Given the description of an element on the screen output the (x, y) to click on. 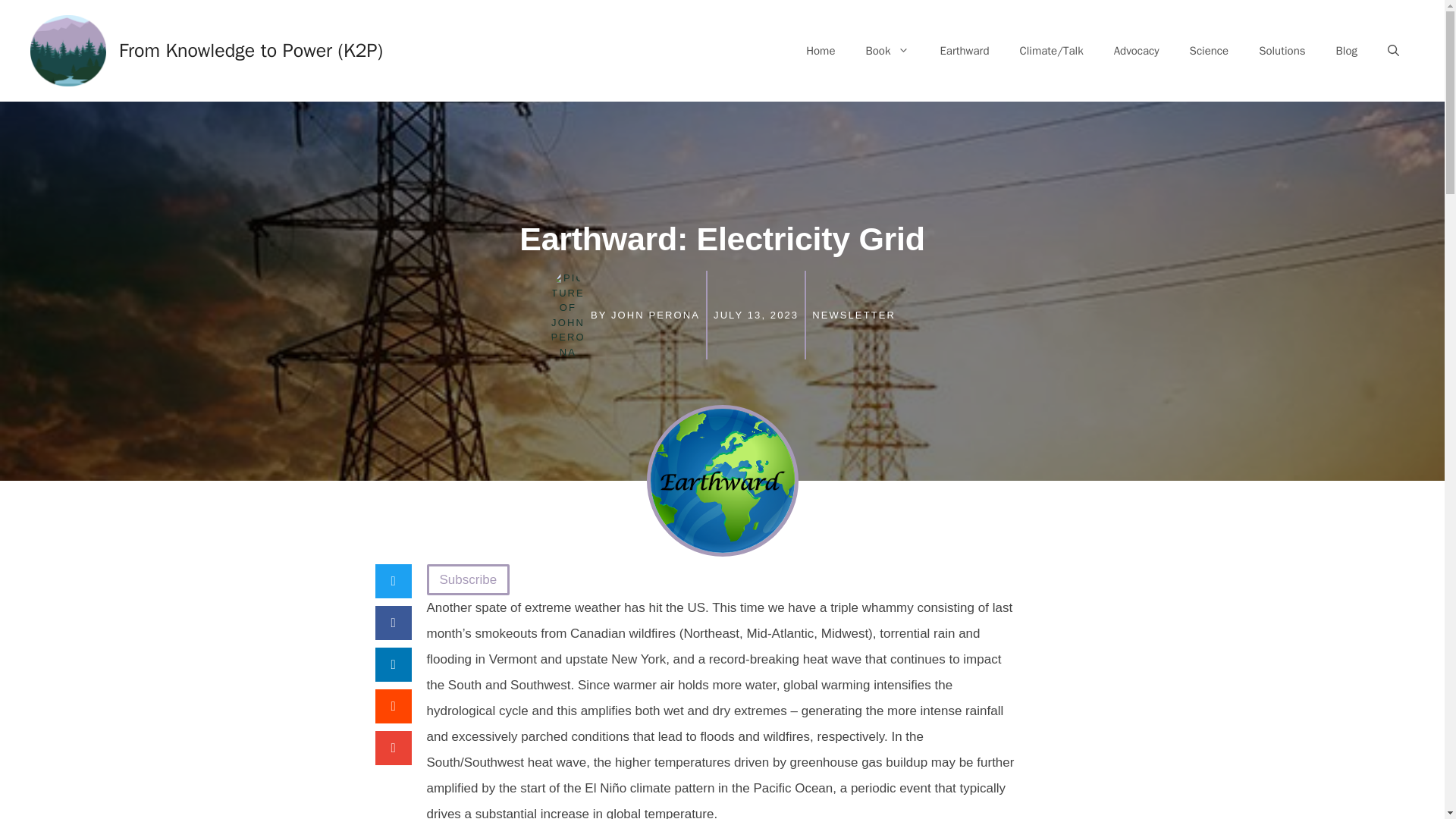
Book (887, 50)
Advocacy (1136, 50)
Home (820, 50)
Subscribe (467, 579)
Blog (1346, 50)
Science (1209, 50)
NEWSLETTER (853, 315)
Earthward (964, 50)
Solutions (1281, 50)
